Given the description of an element on the screen output the (x, y) to click on. 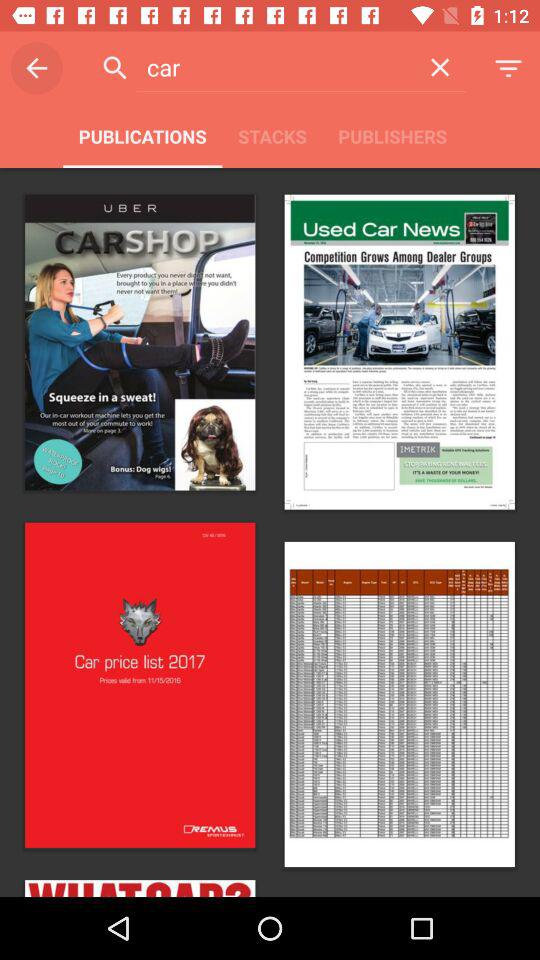
click the car item (274, 67)
